Given the description of an element on the screen output the (x, y) to click on. 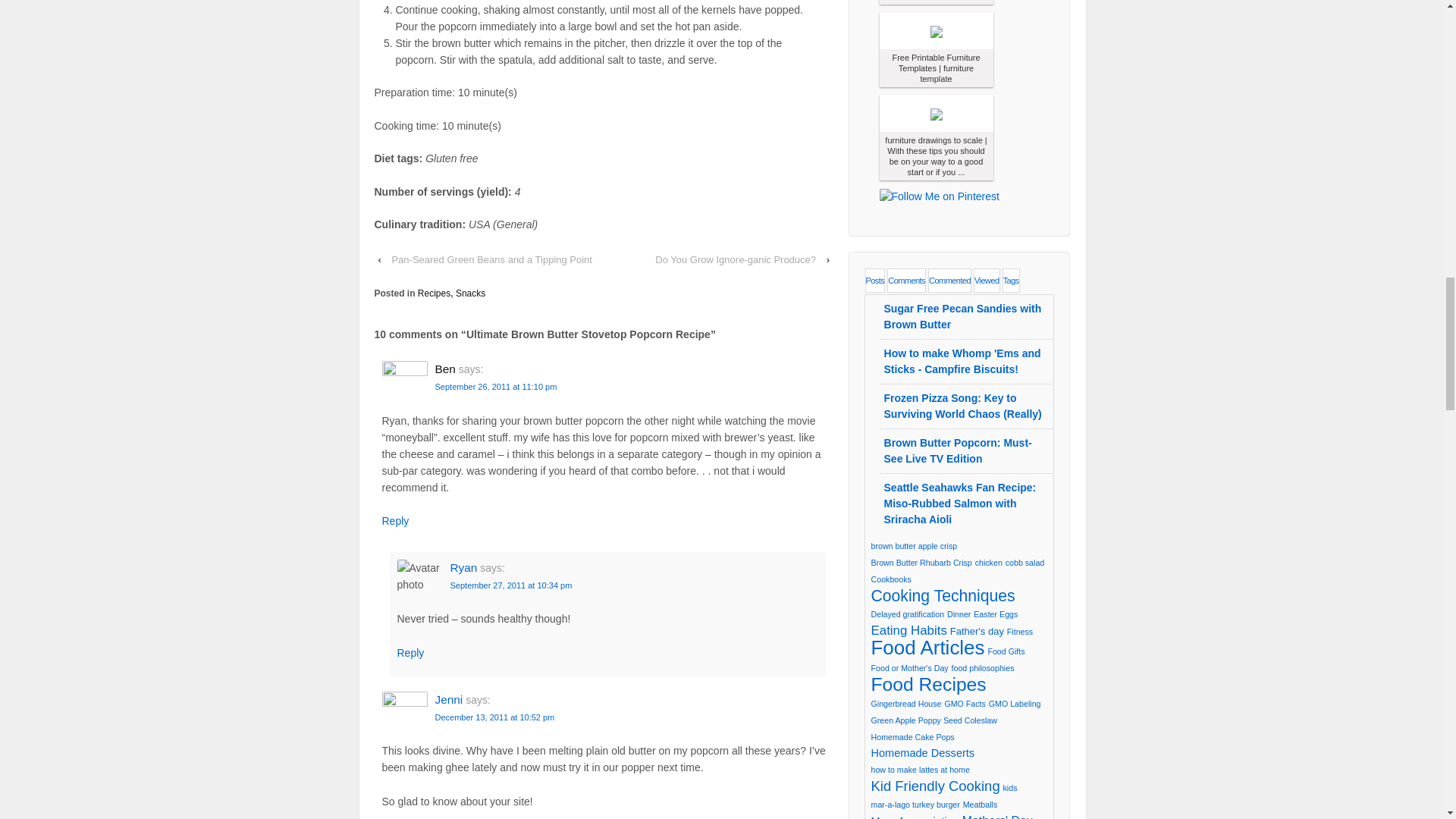
Ryan (463, 567)
Jenni (449, 698)
Snacks (469, 293)
December 13, 2011 at 10:52 pm (494, 716)
Sugar Free Pecan Sandies with Brown Butter (962, 316)
September 26, 2011 at 11:10 pm (496, 386)
September 27, 2011 at 10:34 pm (510, 584)
Pan-Seared Green Beans and a Tipping Point (491, 259)
Reply (411, 653)
How to make Whomp 'Ems and Sticks - Campfire Biscuits! (962, 361)
